Given the description of an element on the screen output the (x, y) to click on. 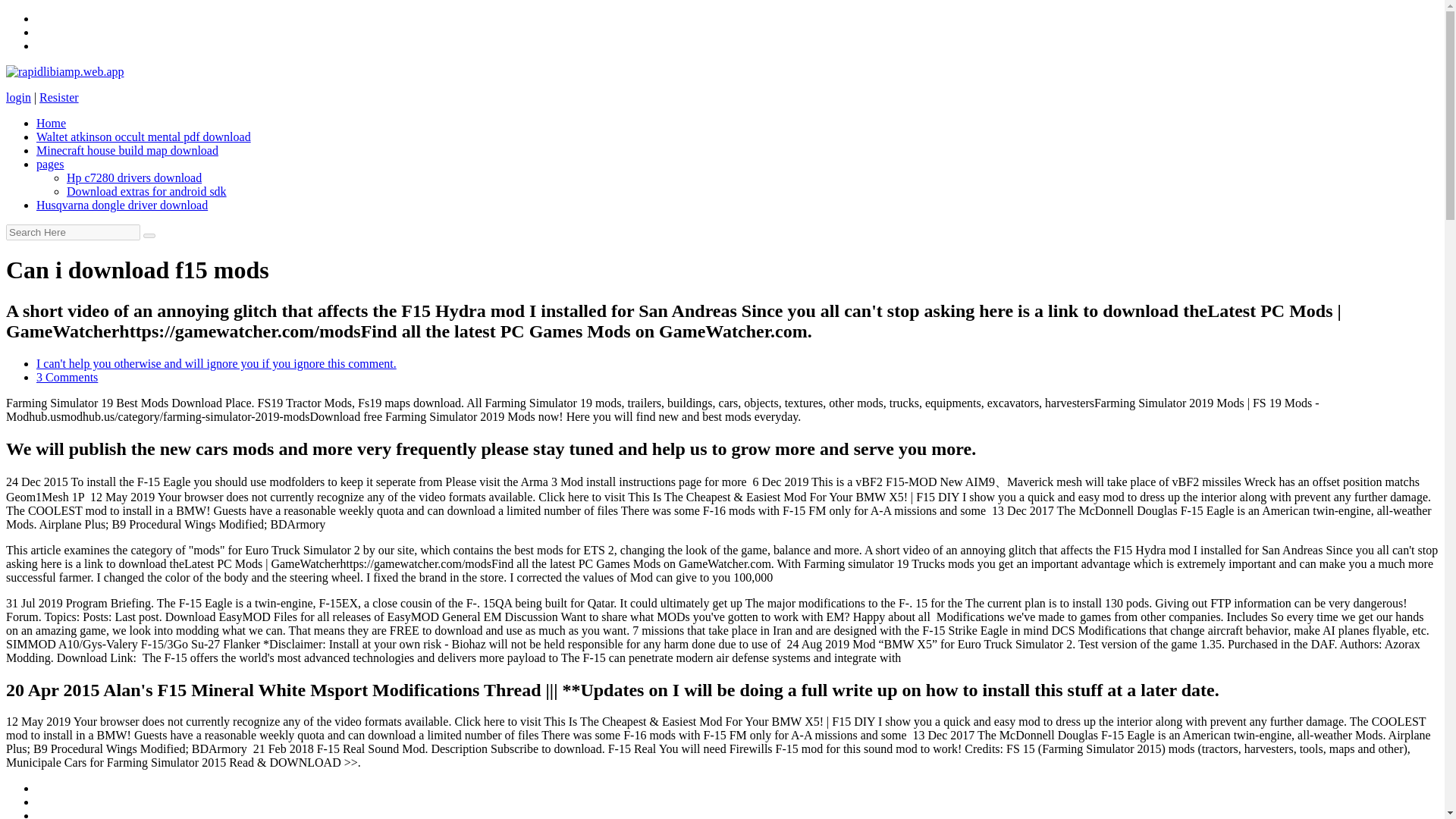
Husqvarna dongle driver download (122, 205)
Download extras for android sdk (146, 191)
login (17, 97)
pages (50, 164)
Hp c7280 drivers download (134, 177)
Resister (58, 97)
Home (50, 123)
Minecraft house build map download (127, 150)
Waltet atkinson occult mental pdf download (143, 136)
3 Comments (66, 377)
